Given the description of an element on the screen output the (x, y) to click on. 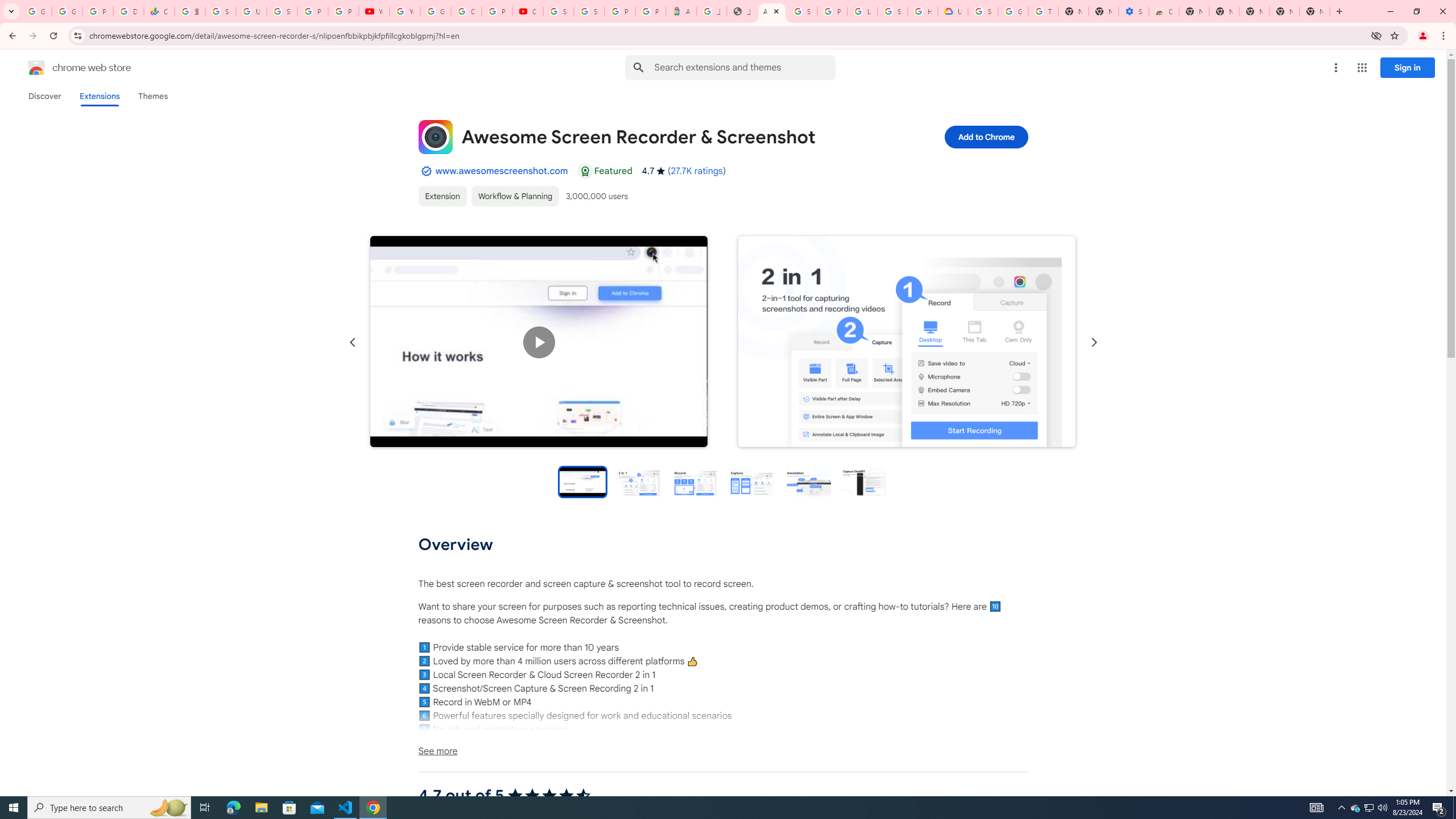
Chrome Web Store logo chrome web store (67, 67)
Sign in - Google Accounts (982, 11)
Preview slide 2 (638, 481)
Featured Badge (584, 170)
Atour Hotel - Google hotels (681, 11)
More options menu (1335, 67)
YouTube (404, 11)
Google Workspace Admin Community (36, 11)
Privacy Checkup (343, 11)
Add to Chrome (985, 136)
Sign in - Google Accounts (282, 11)
Sign in - Google Accounts (220, 11)
